Given the description of an element on the screen output the (x, y) to click on. 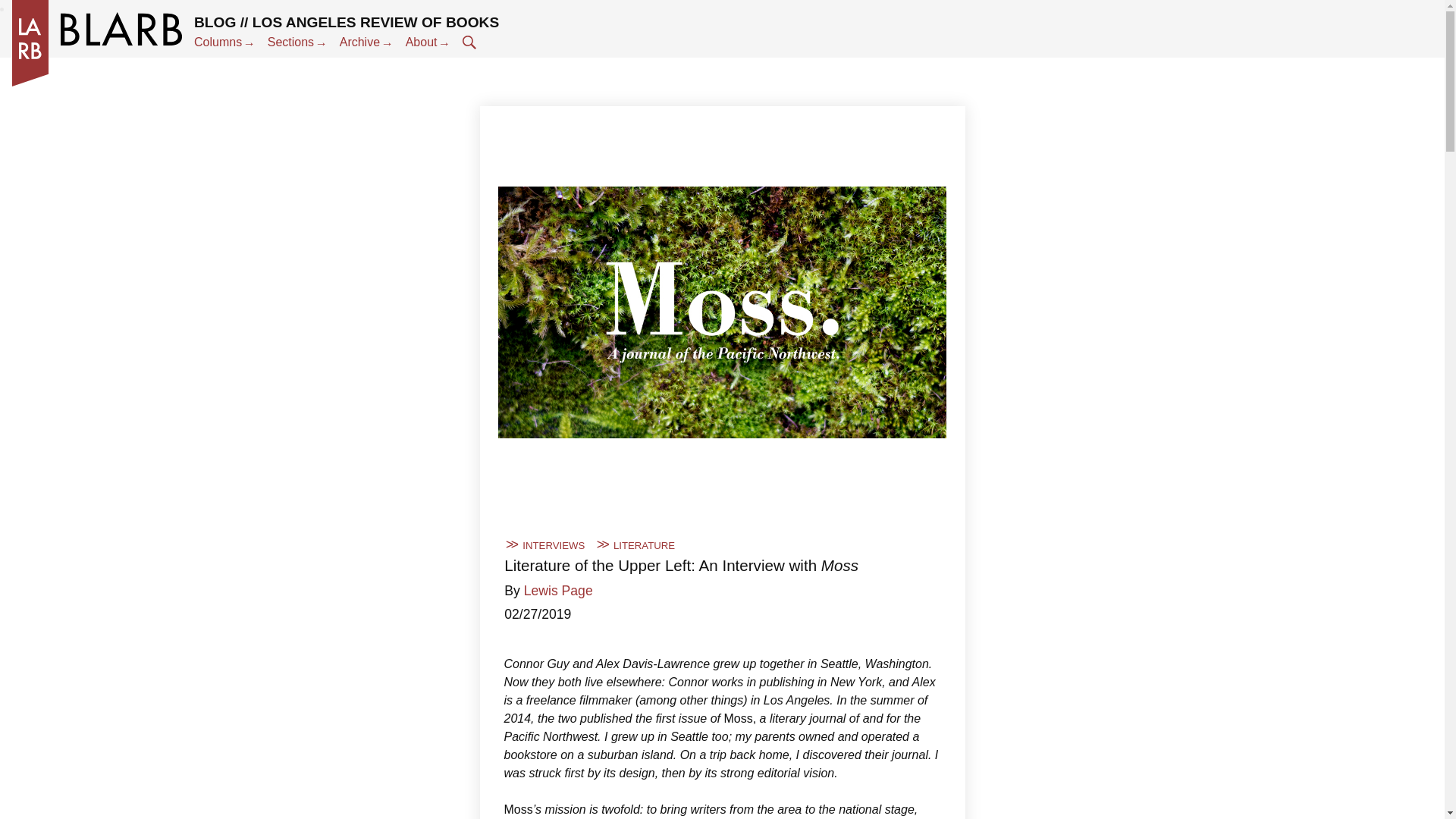
Columns (224, 42)
Sections (297, 42)
